Given the description of an element on the screen output the (x, y) to click on. 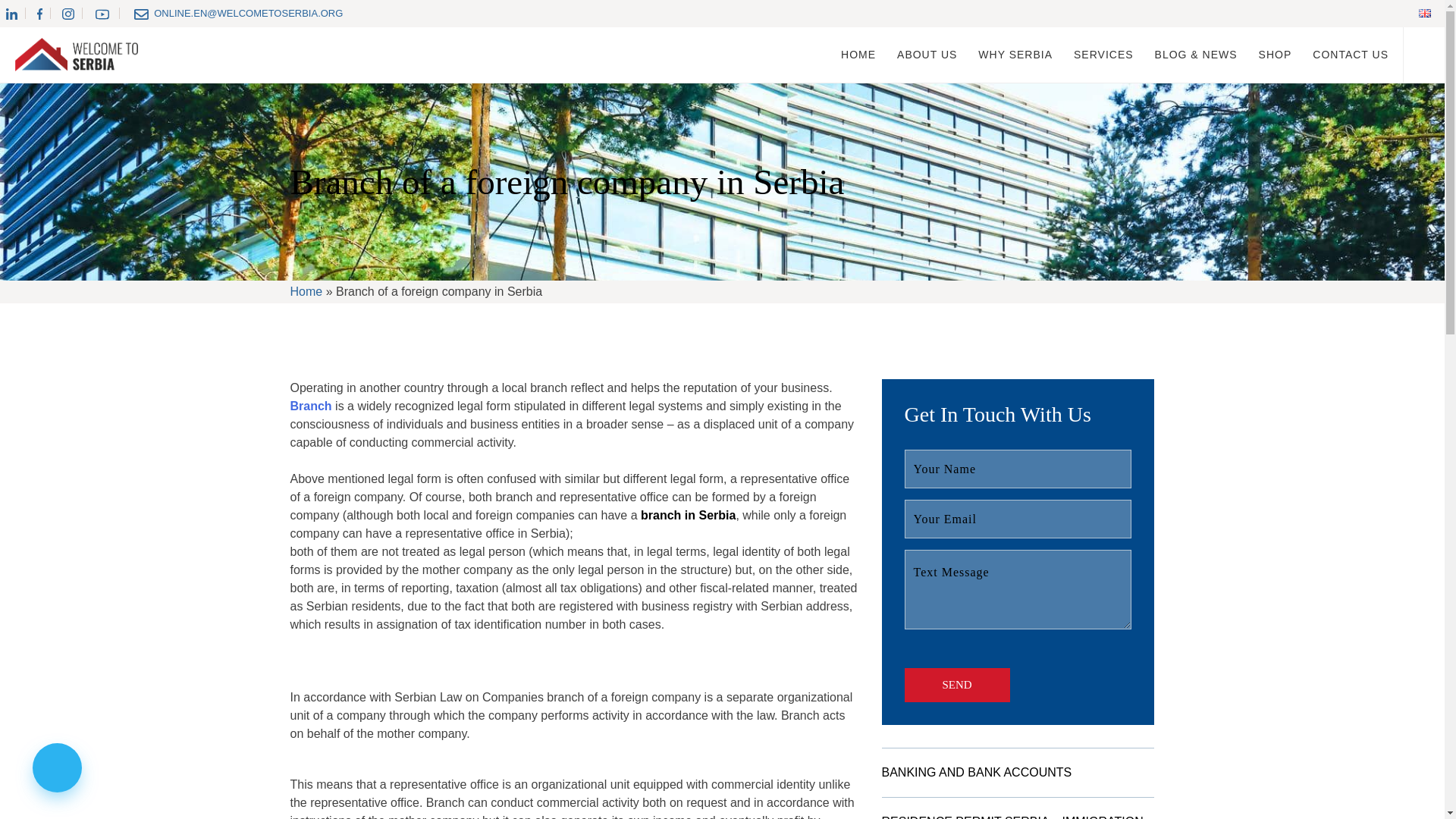
SERVICES (1104, 54)
CONTACT US (1351, 54)
ABOUT US (926, 54)
WHY SERBIA (1015, 54)
Send (956, 684)
